Given the description of an element on the screen output the (x, y) to click on. 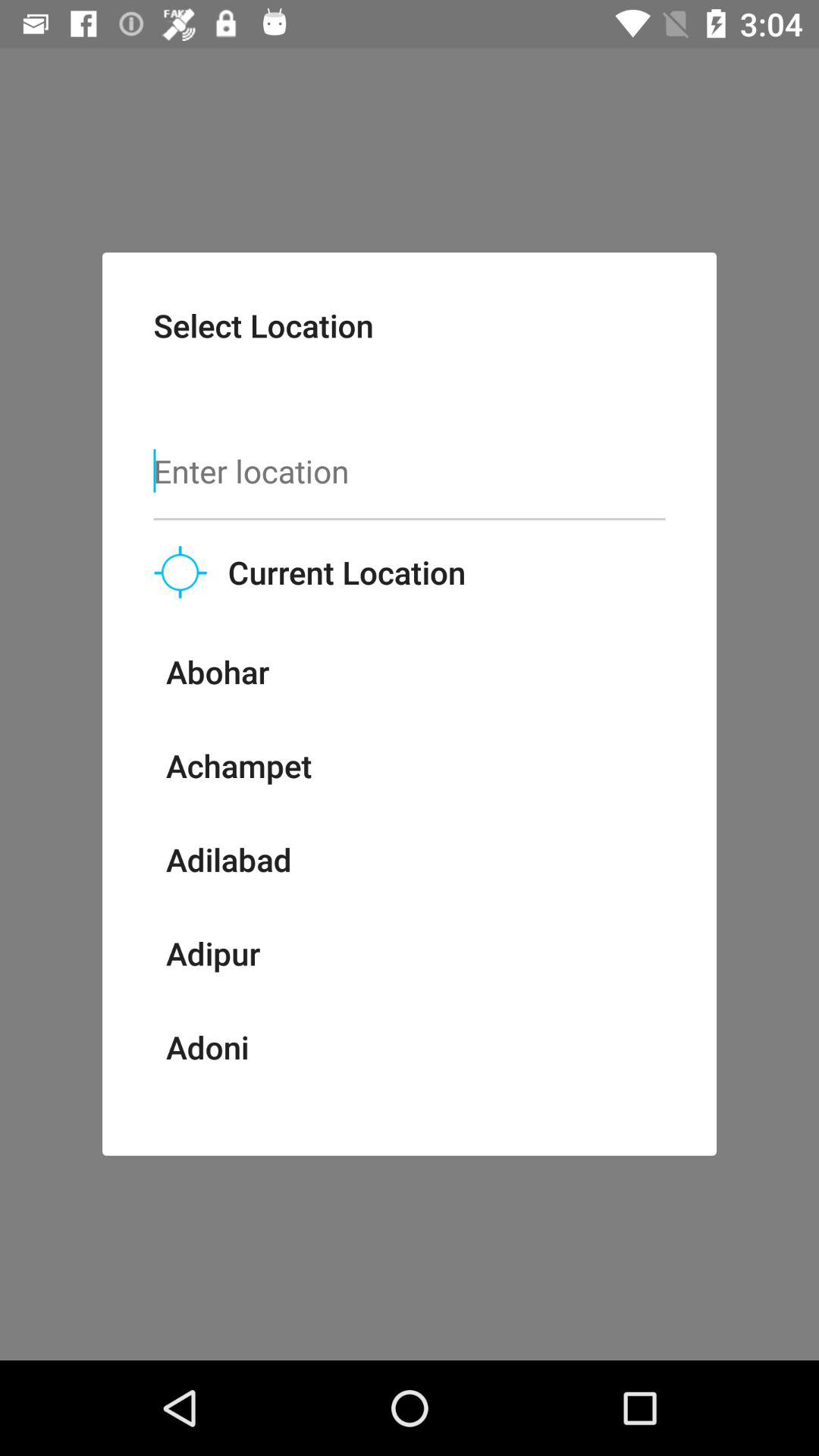
turn on the icon above adipur icon (228, 859)
